Given the description of an element on the screen output the (x, y) to click on. 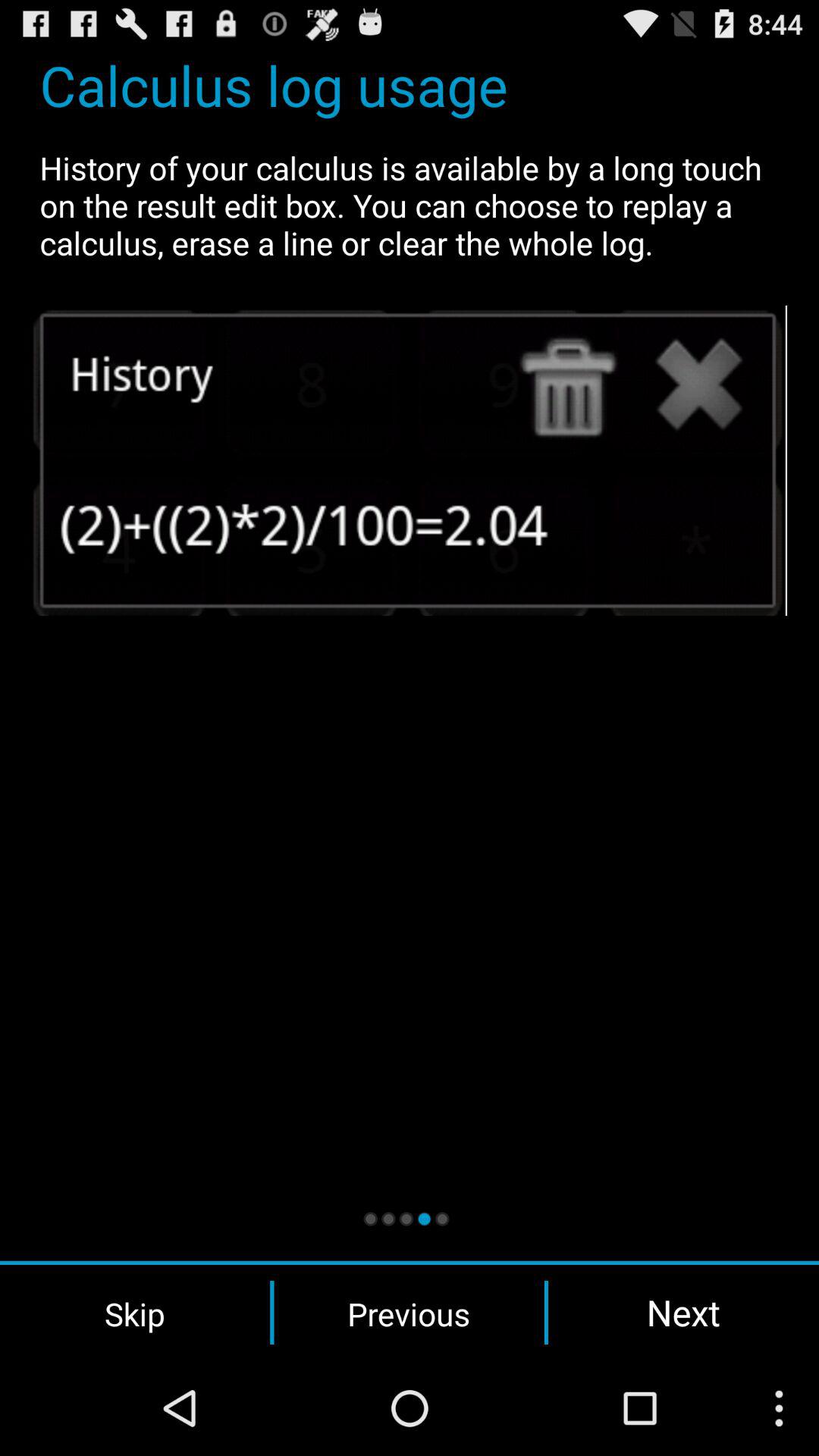
press the previous (409, 1313)
